Given the description of an element on the screen output the (x, y) to click on. 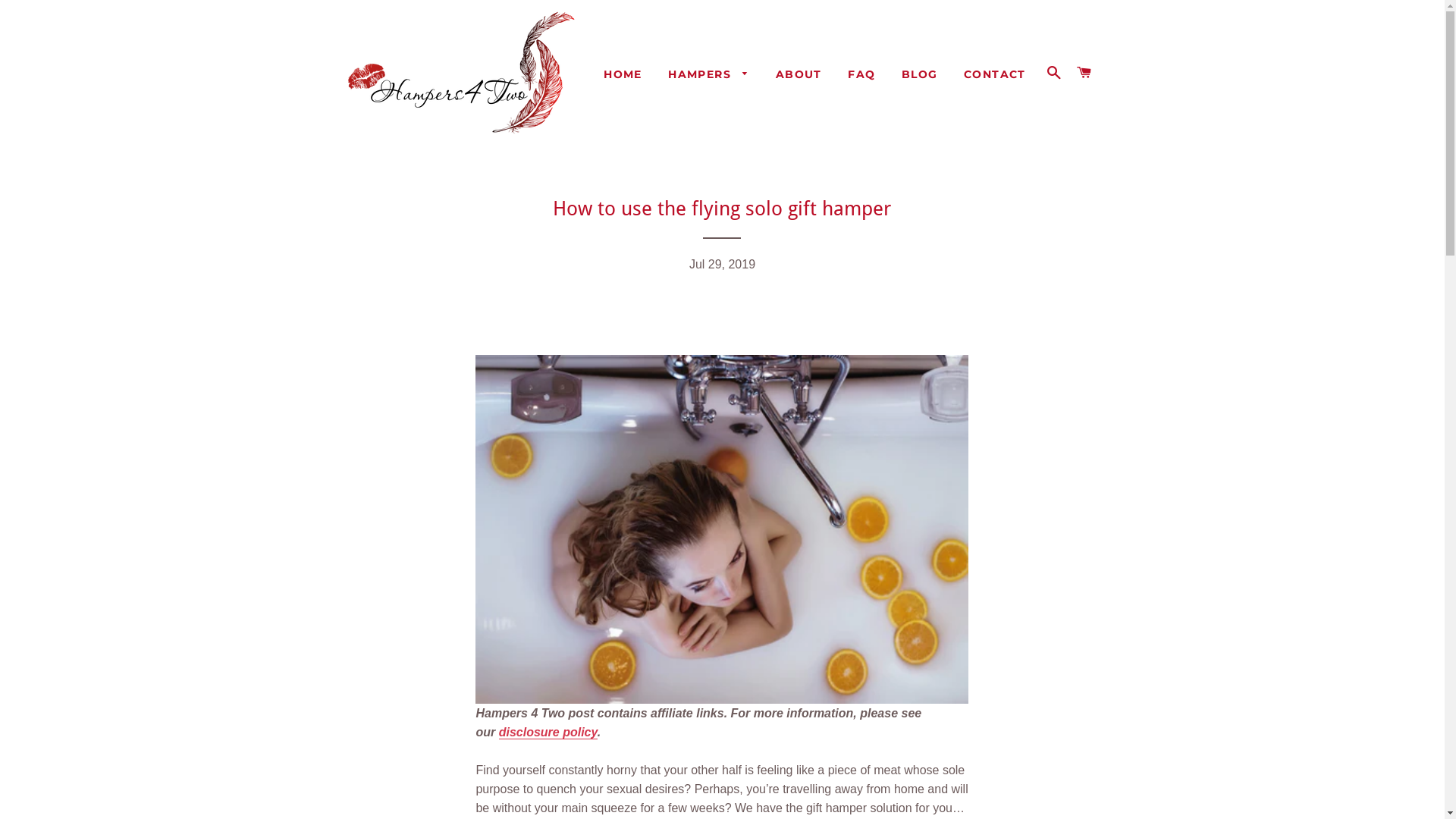
BLOG Element type: text (919, 74)
CONTACT Element type: text (994, 74)
disclosure policy Element type: text (547, 732)
FAQ Element type: text (861, 74)
HOME Element type: text (622, 74)
CART Element type: text (1083, 72)
SEARCH Element type: text (1053, 72)
HAMPERS Element type: text (708, 74)
ABOUT Element type: text (798, 74)
